Given the description of an element on the screen output the (x, y) to click on. 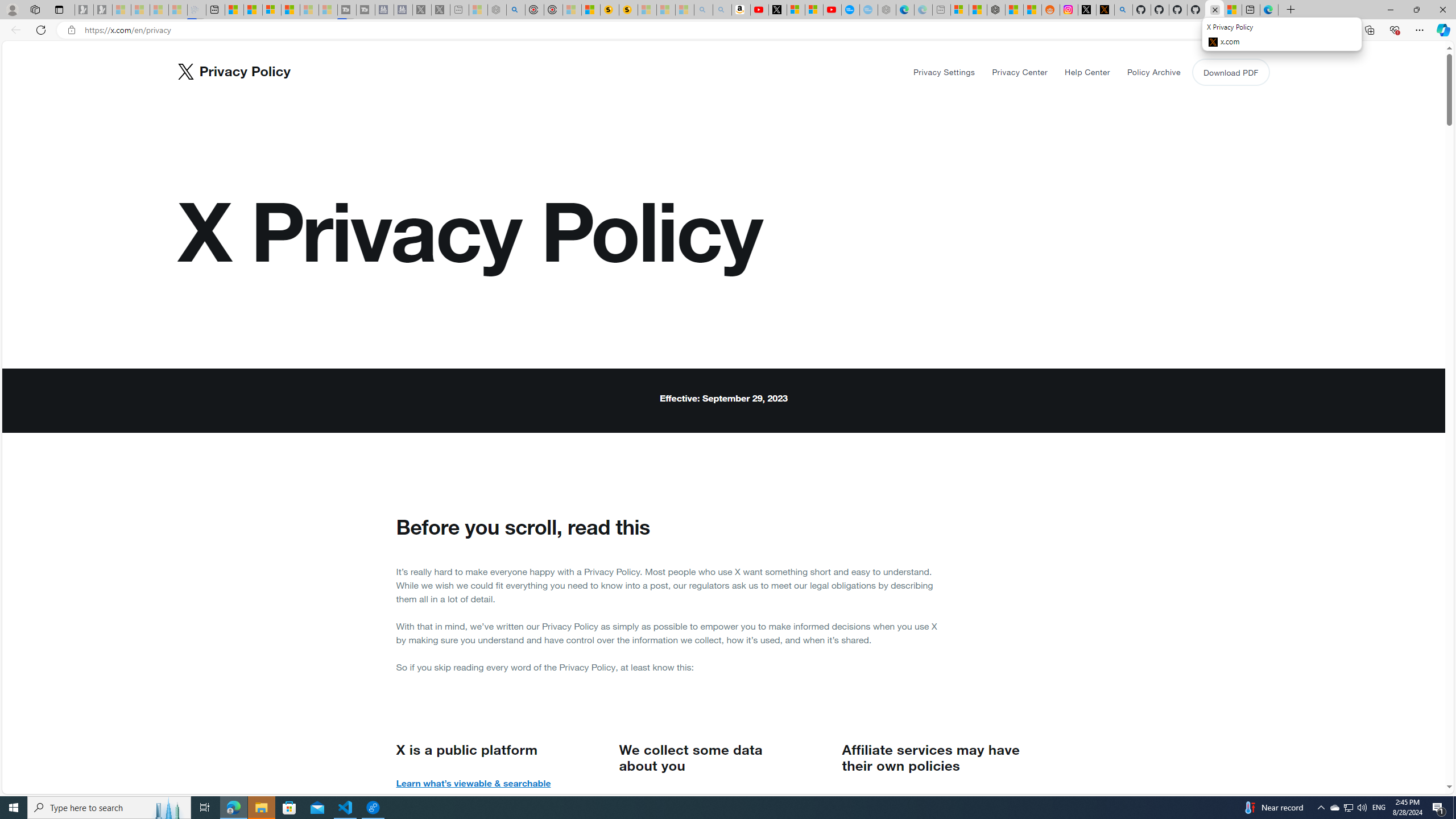
X Privacy Policy (1214, 9)
Microsoft Start - Sleeping (309, 9)
Download PDF (1230, 71)
Help Center (1086, 71)
Help Center (1087, 72)
